Given the description of an element on the screen output the (x, y) to click on. 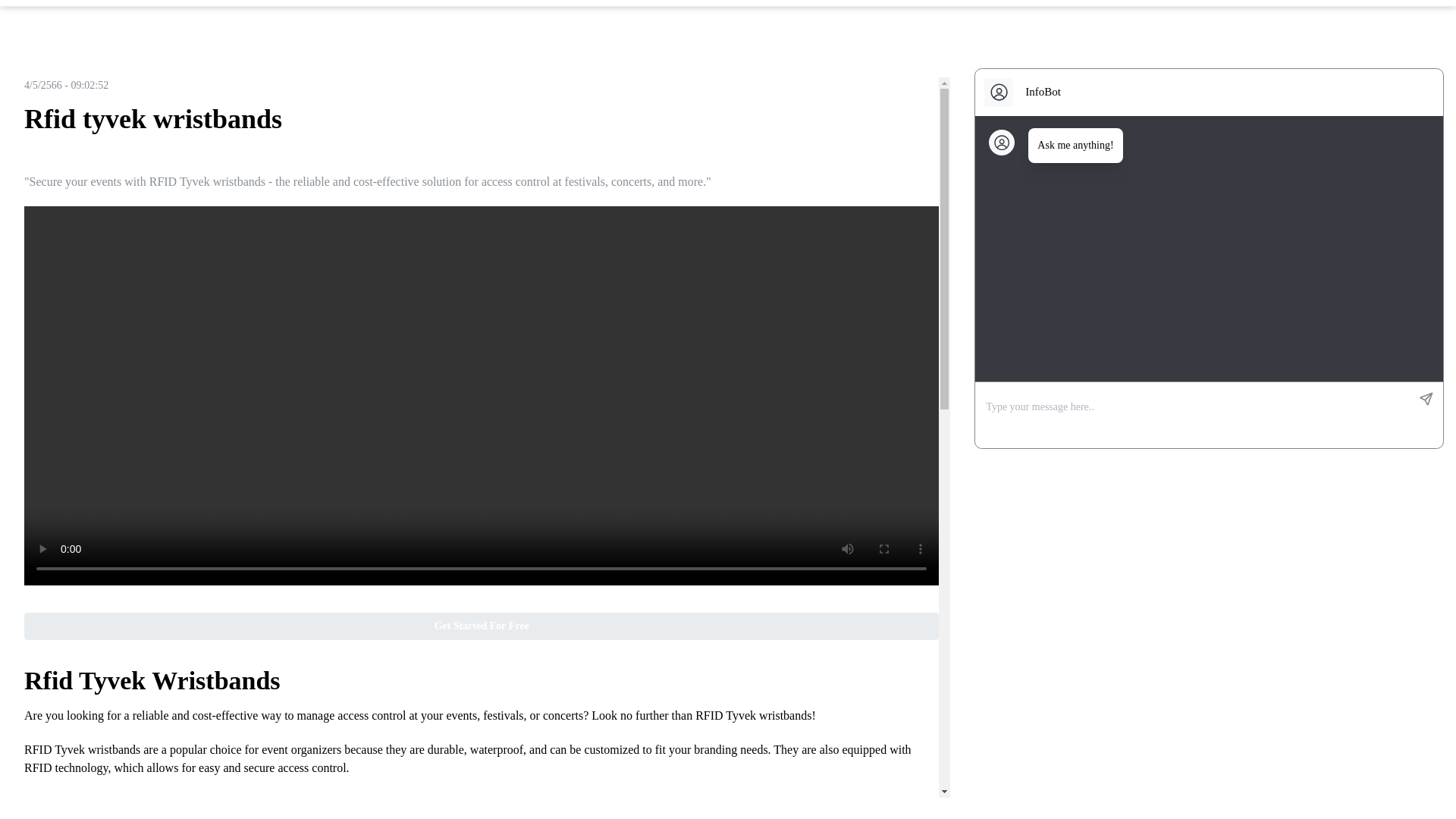
EVENT MANAGEMENT (81, 153)
ACCESS CONTROL (193, 153)
Get Started For Free (481, 625)
